Given the description of an element on the screen output the (x, y) to click on. 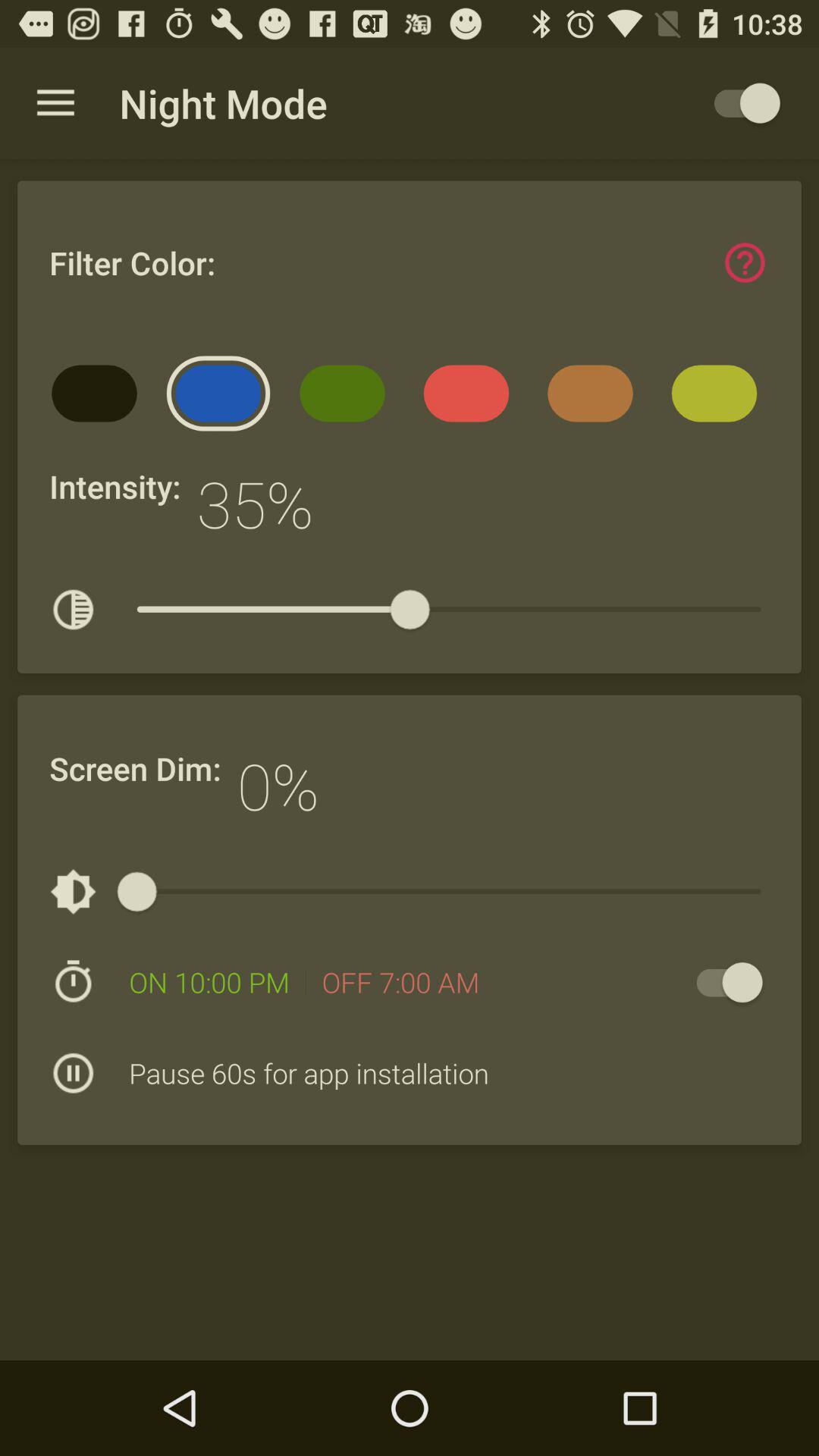
press item next to the filter color: icon (744, 262)
